Given the description of an element on the screen output the (x, y) to click on. 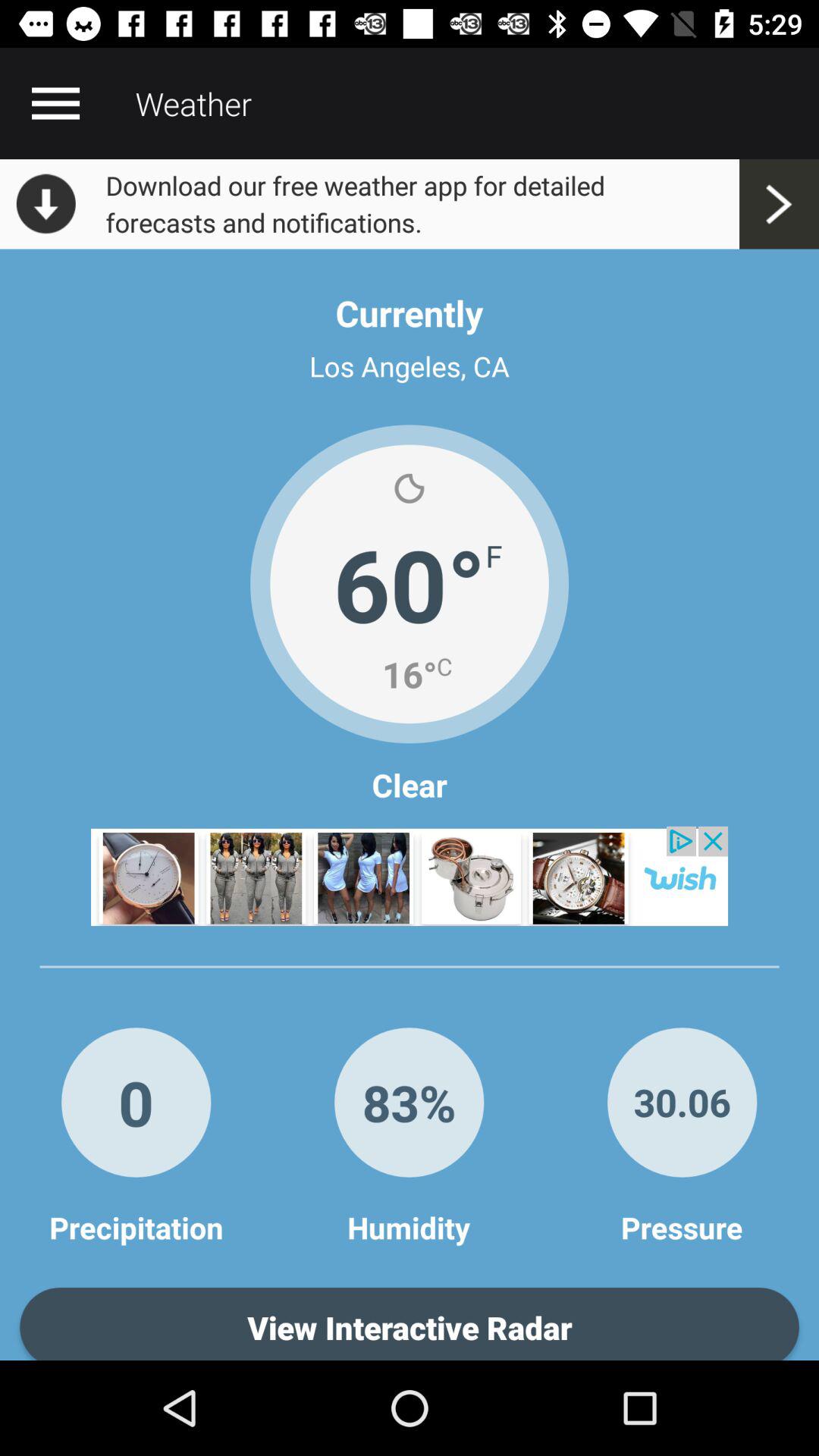
menu option (55, 103)
